Given the description of an element on the screen output the (x, y) to click on. 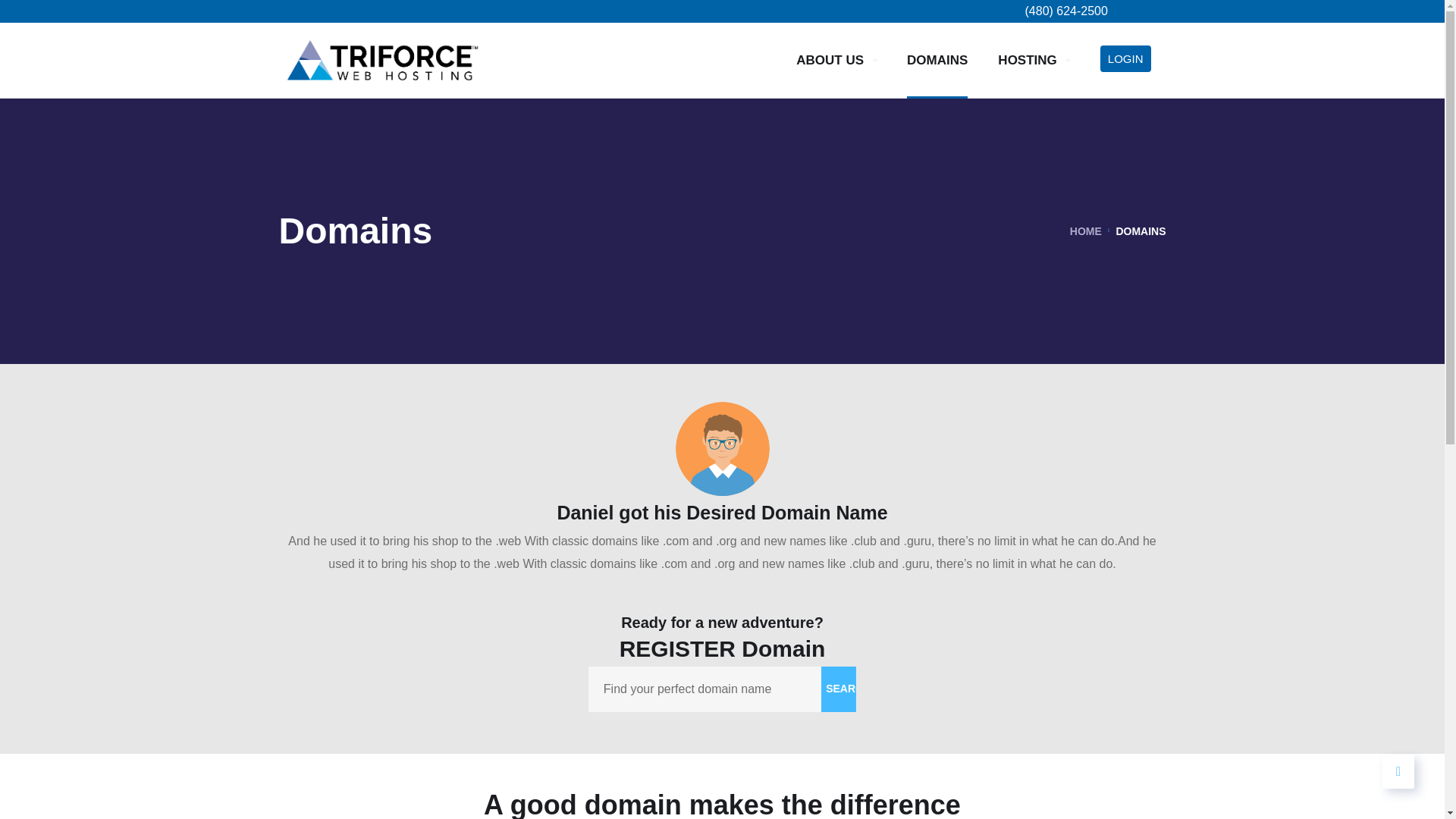
LOGIN (1125, 58)
ABOUT US (836, 59)
HOSTING (1032, 59)
